Given the description of an element on the screen output the (x, y) to click on. 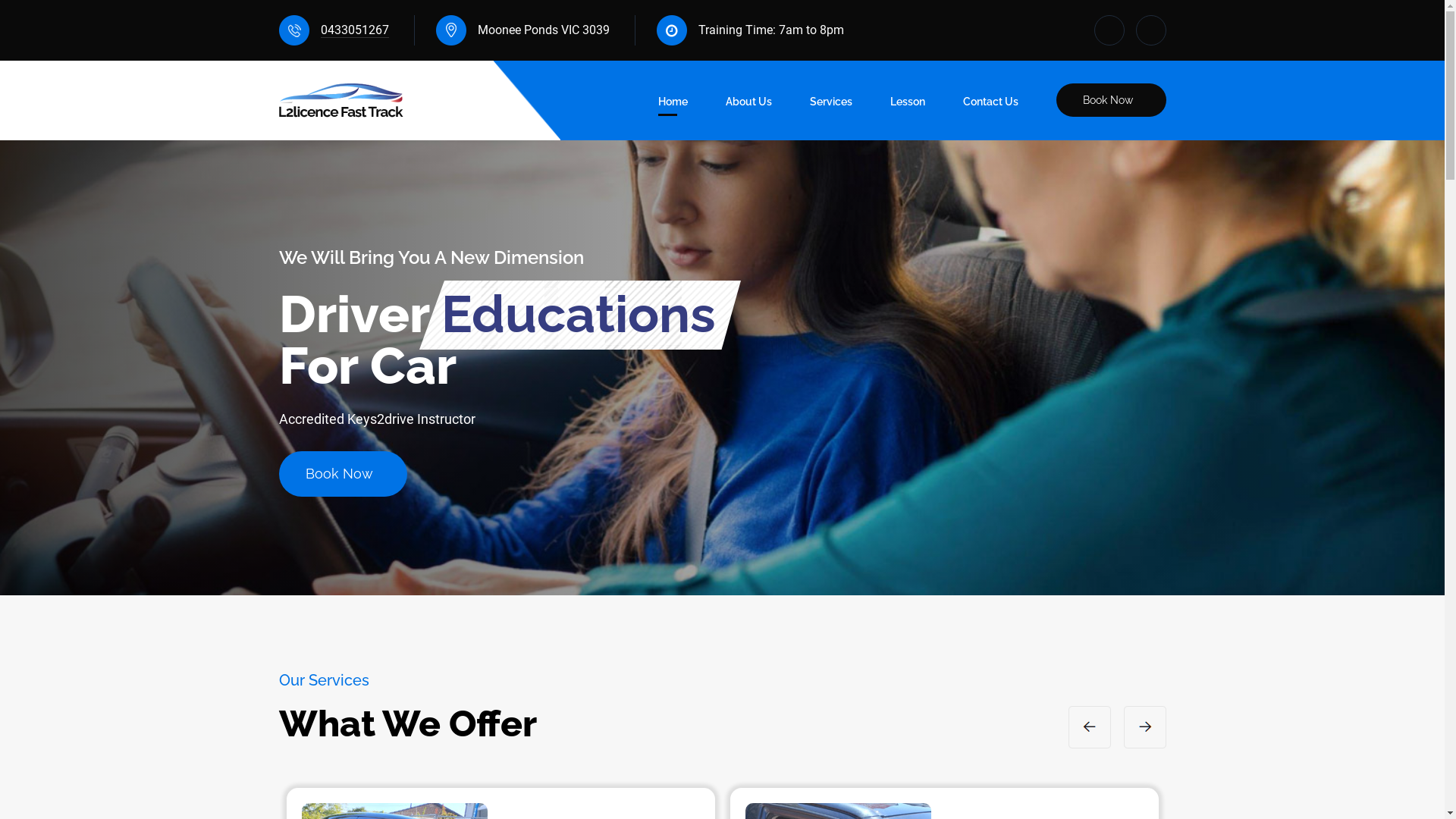
Contact Us Element type: text (990, 105)
Book Now Element type: text (343, 473)
PREVIOUS Element type: text (1089, 727)
Lesson Element type: text (907, 105)
Home Element type: text (672, 105)
Book Now Element type: text (1110, 99)
Services Element type: text (830, 105)
NEXT Element type: text (1144, 727)
0433051267 Element type: text (354, 29)
About Us Element type: text (747, 105)
